Given the description of an element on the screen output the (x, y) to click on. 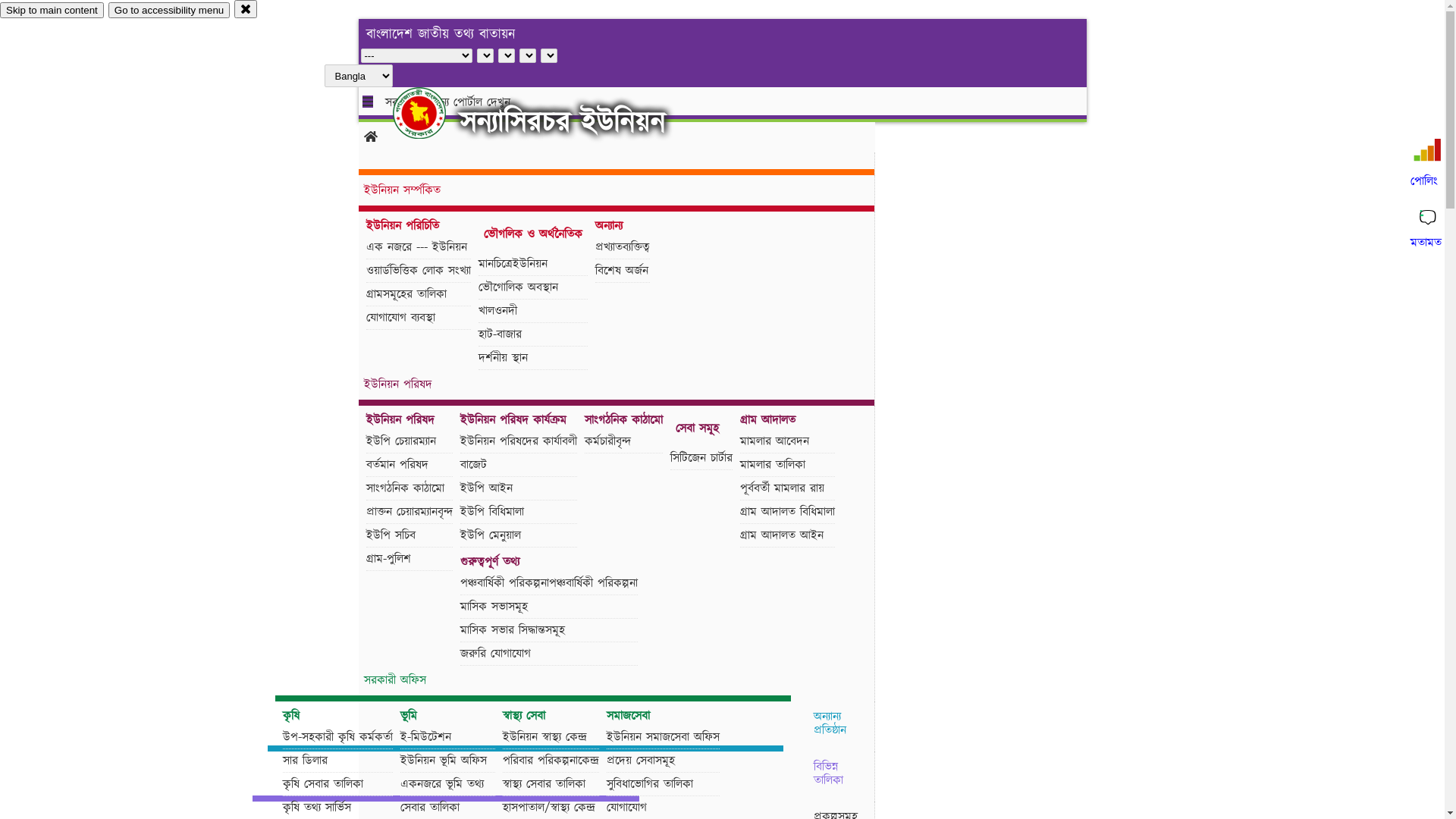
Skip to main content Element type: text (51, 10)
close Element type: hover (245, 9)
Go to accessibility menu Element type: text (168, 10)

                
             Element type: hover (431, 112)
